Given the description of an element on the screen output the (x, y) to click on. 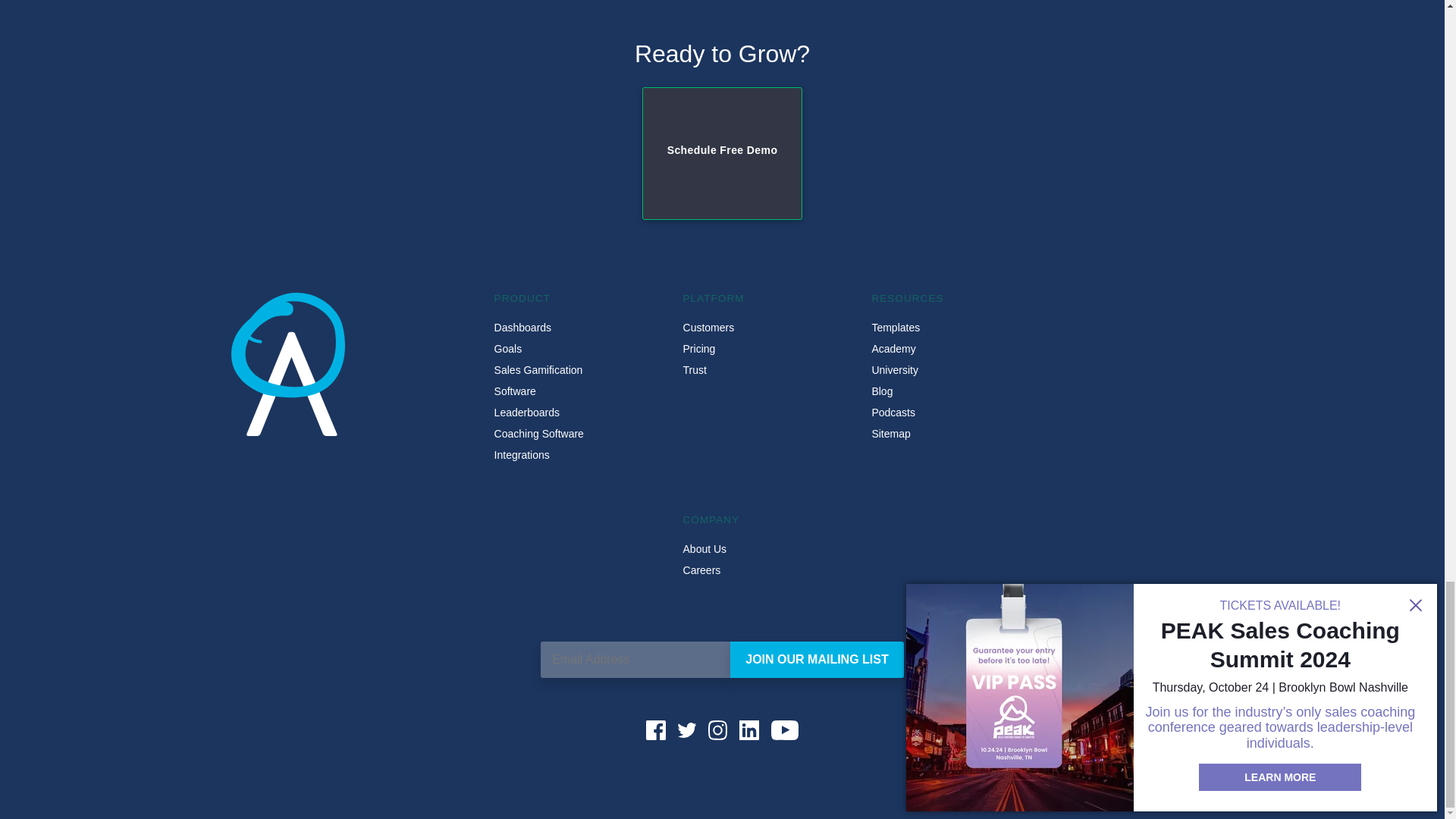
Join Our Mailing List (816, 659)
